Given the description of an element on the screen output the (x, y) to click on. 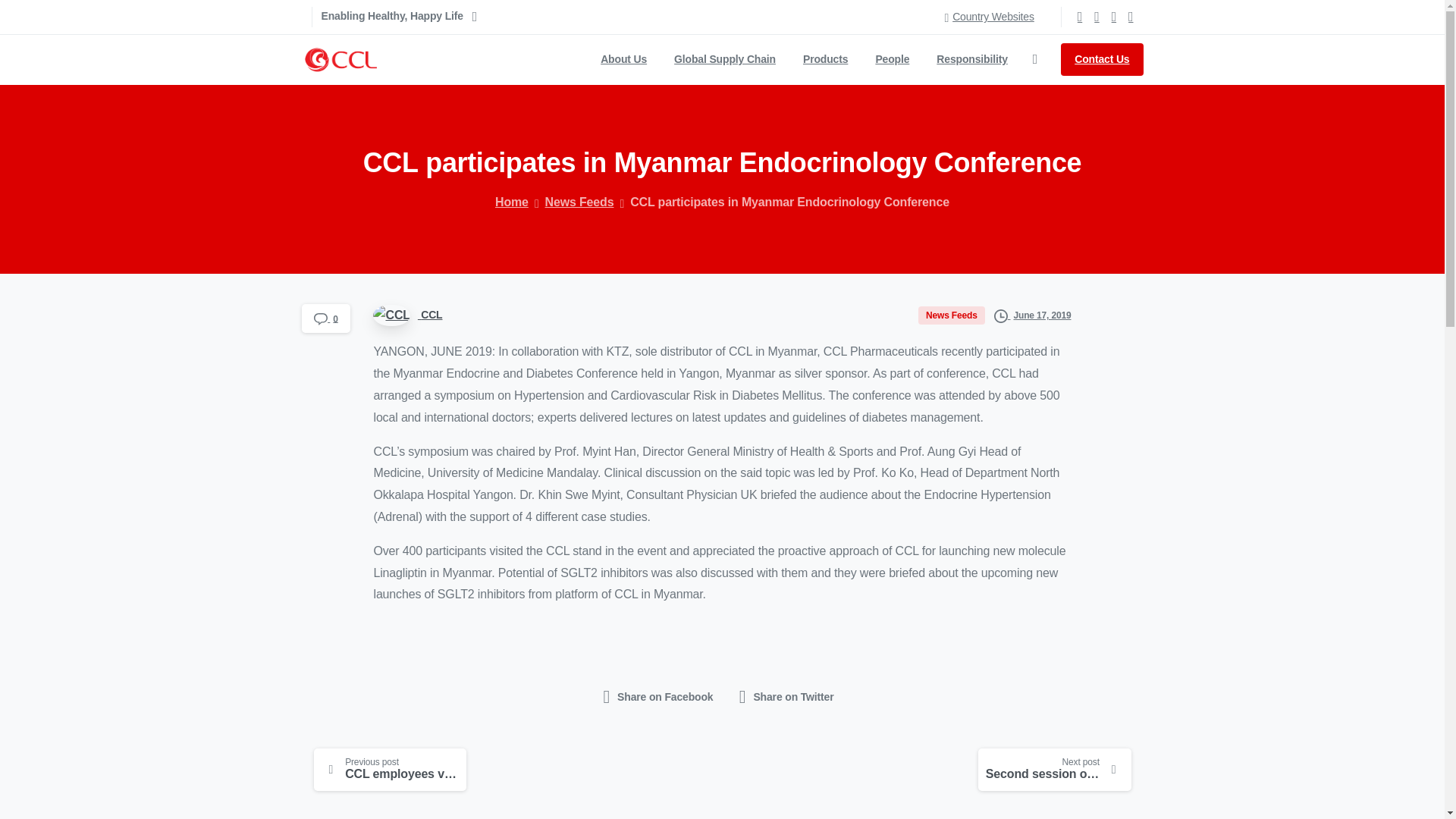
Enabling Healthy, Happy Life (706, 59)
People (399, 16)
Global Supply Chain (892, 59)
twitter (724, 59)
About Us (1096, 16)
Global Supply Chain (623, 59)
Facebook (724, 59)
linkedin (1079, 16)
instagram (1113, 16)
Country Websites (1130, 16)
Country Websites (988, 17)
Products (988, 17)
About Us (824, 59)
